Given the description of an element on the screen output the (x, y) to click on. 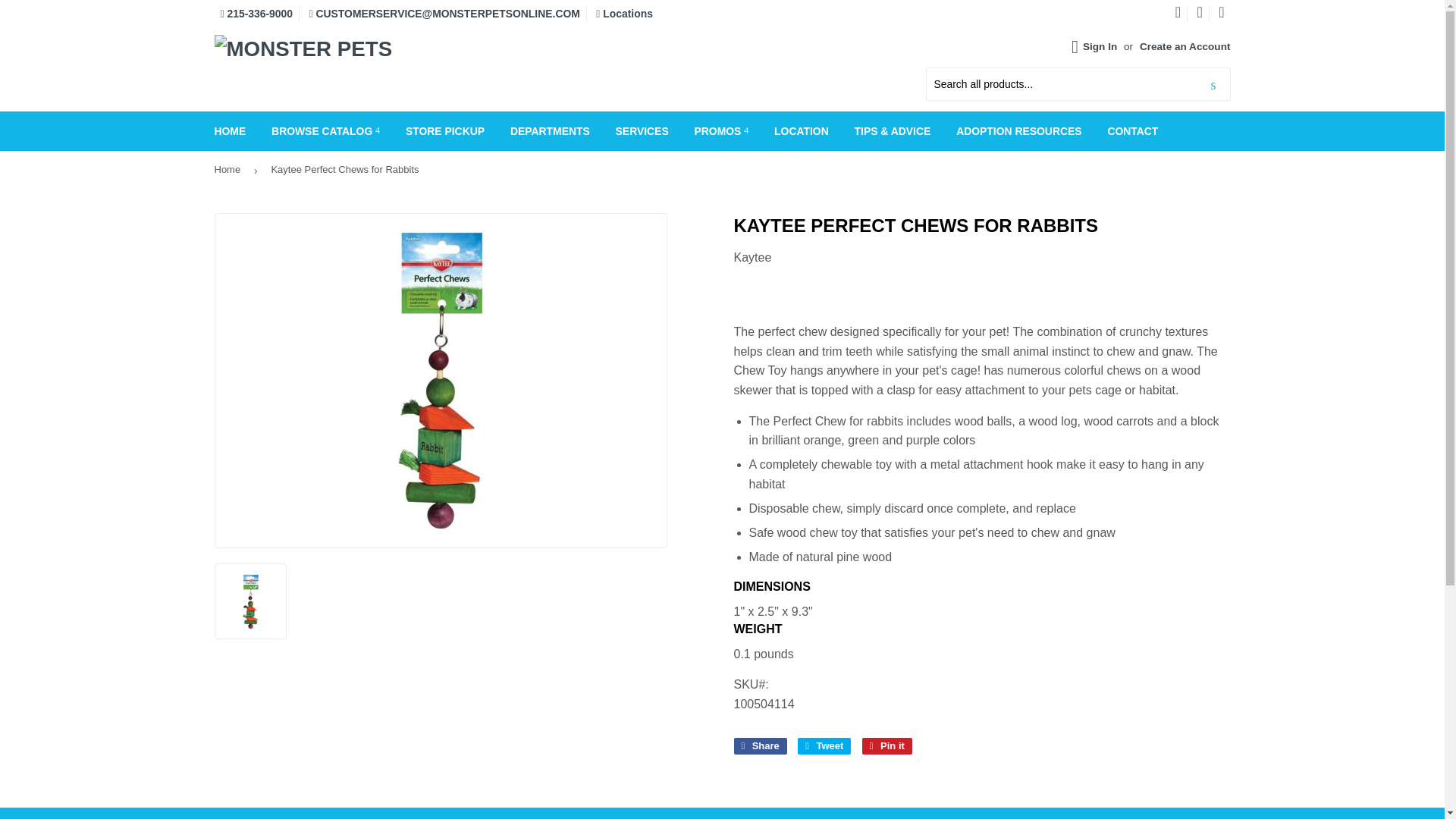
Sign In (1099, 46)
Share on Facebook (760, 745)
Tweet on Twitter (823, 745)
Pin on Pinterest (886, 745)
Create an Account (1185, 46)
SEARCH (1213, 84)
 Locations (623, 13)
Open Product Zoom (441, 380)
 215-336-9000 (255, 13)
